Given the description of an element on the screen output the (x, y) to click on. 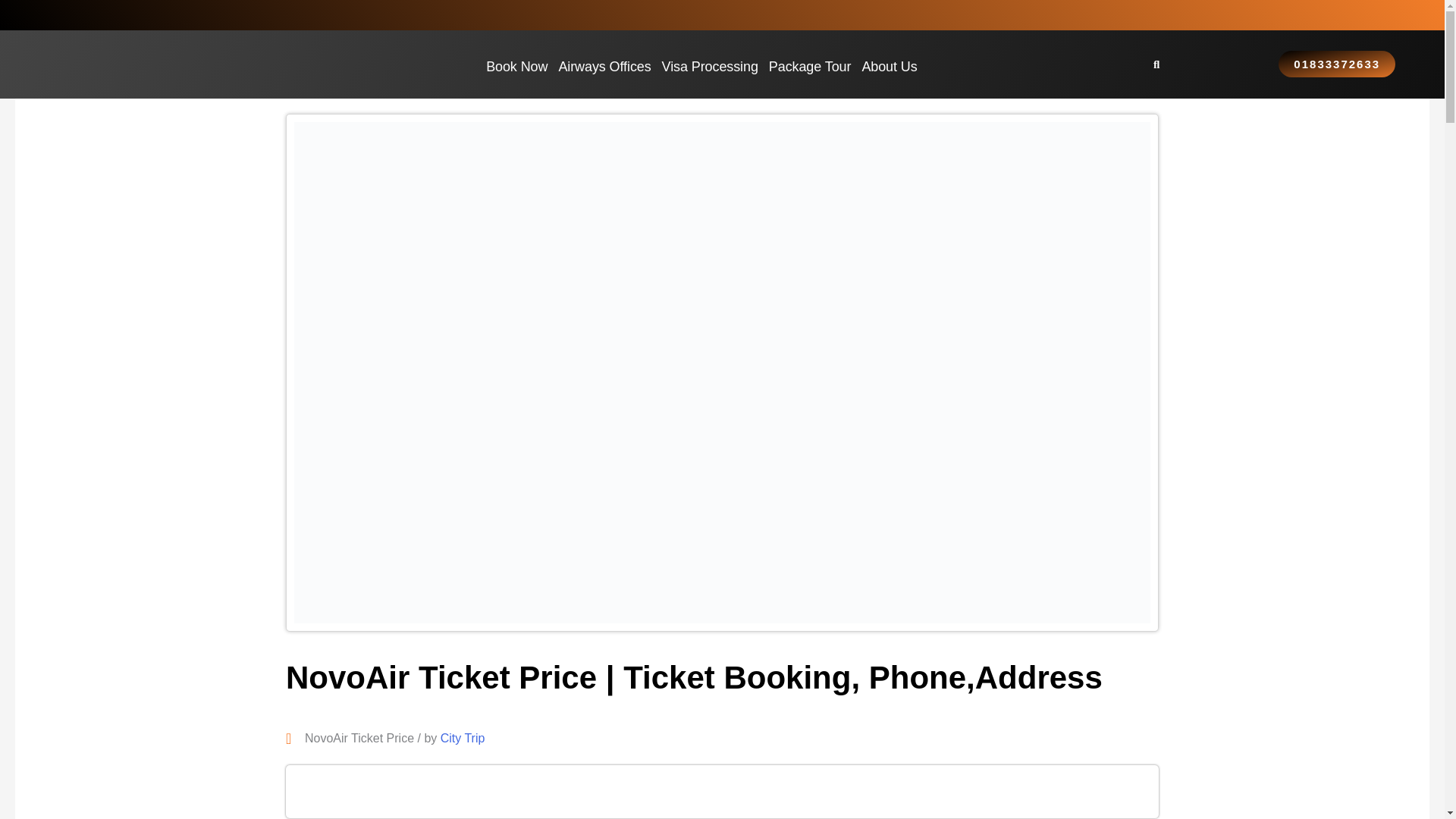
Book Now (516, 65)
Search (1161, 63)
Airways Offices (604, 65)
